Given the description of an element on the screen output the (x, y) to click on. 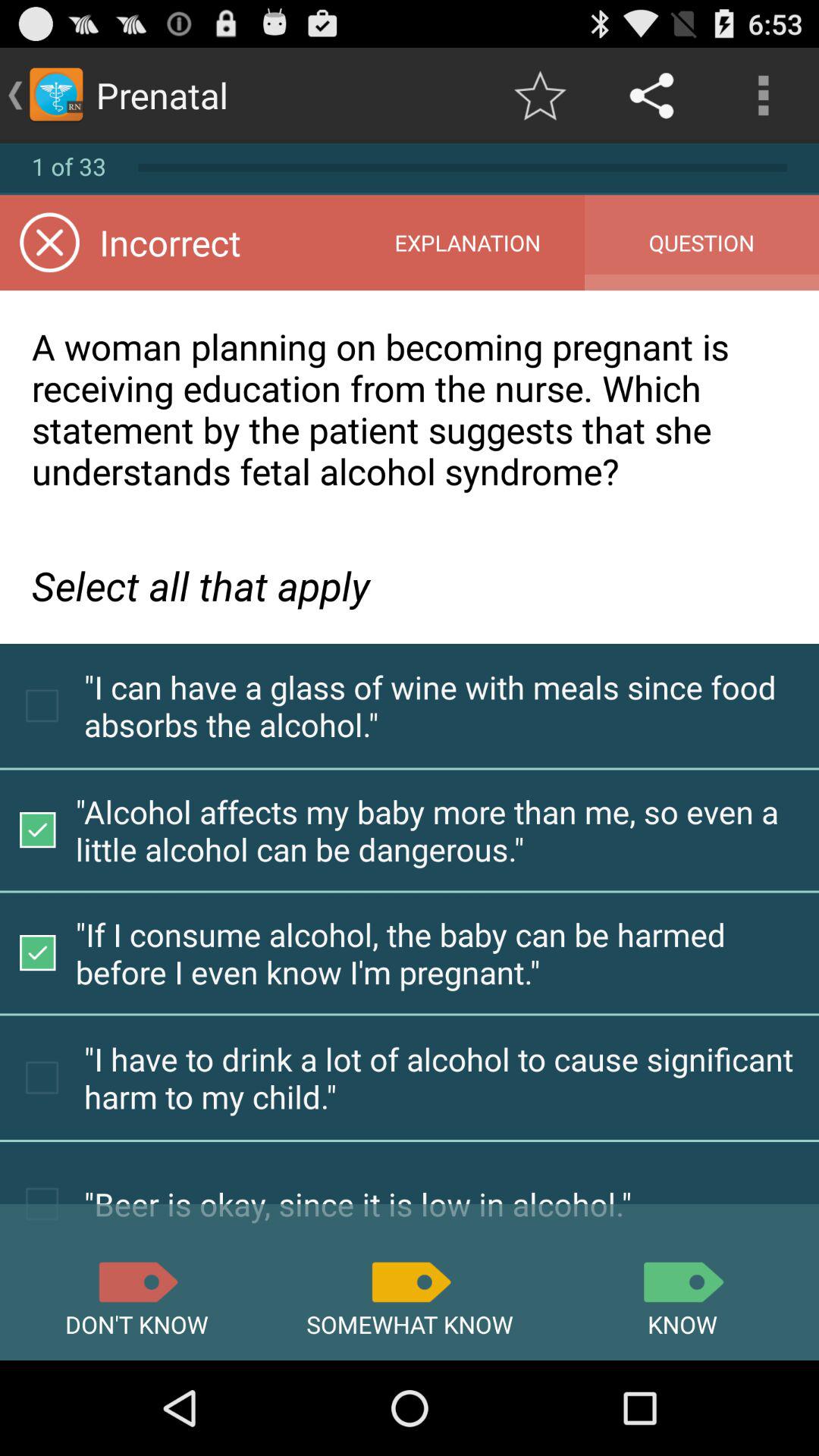
select dont know answer (136, 1281)
